Given the description of an element on the screen output the (x, y) to click on. 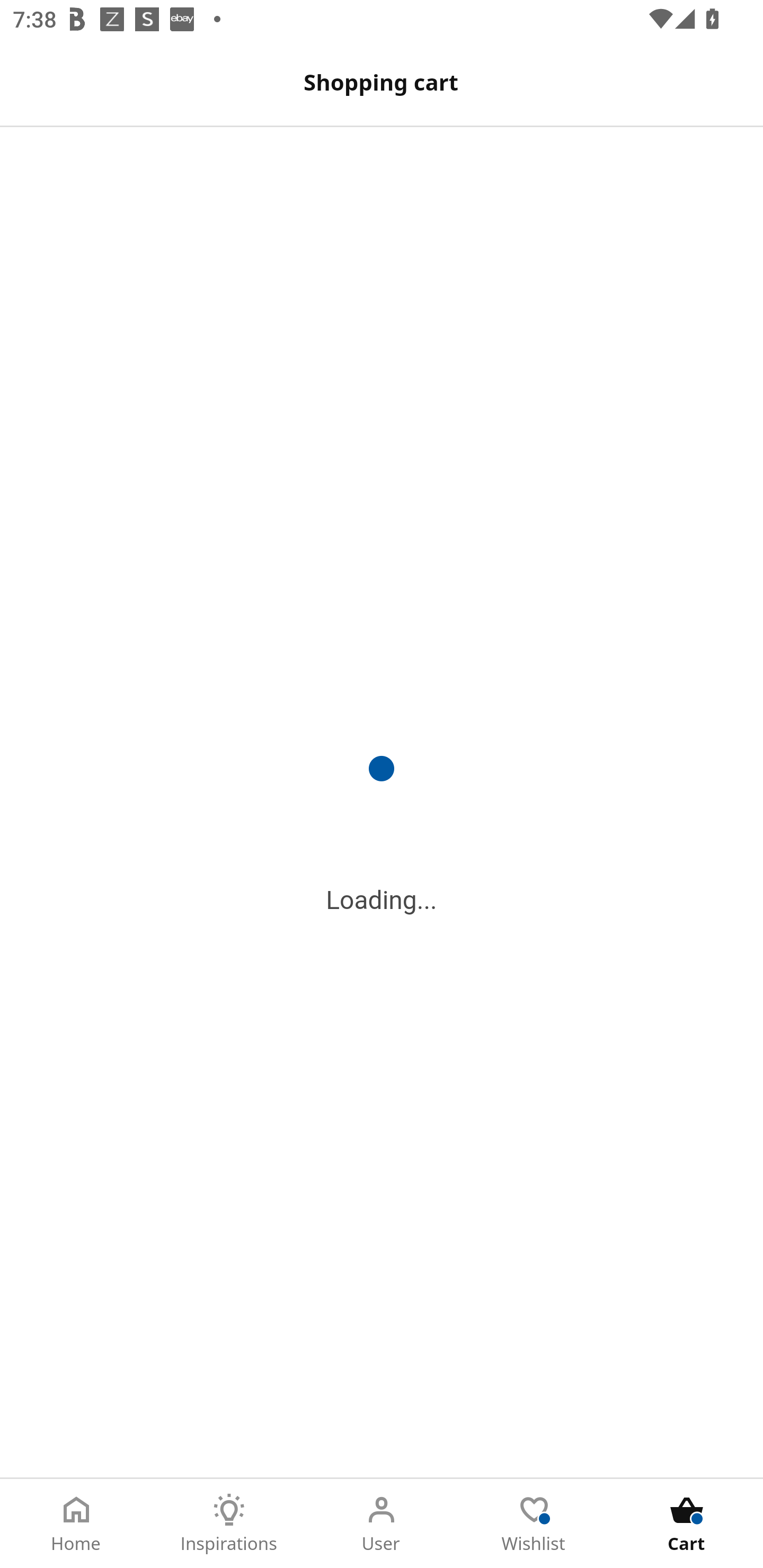
Home
Tab 1 of 5 (76, 1522)
Inspirations
Tab 2 of 5 (228, 1522)
User
Tab 3 of 5 (381, 1522)
Wishlist
Tab 4 of 5 (533, 1522)
Cart
Tab 5 of 5 (686, 1522)
